Given the description of an element on the screen output the (x, y) to click on. 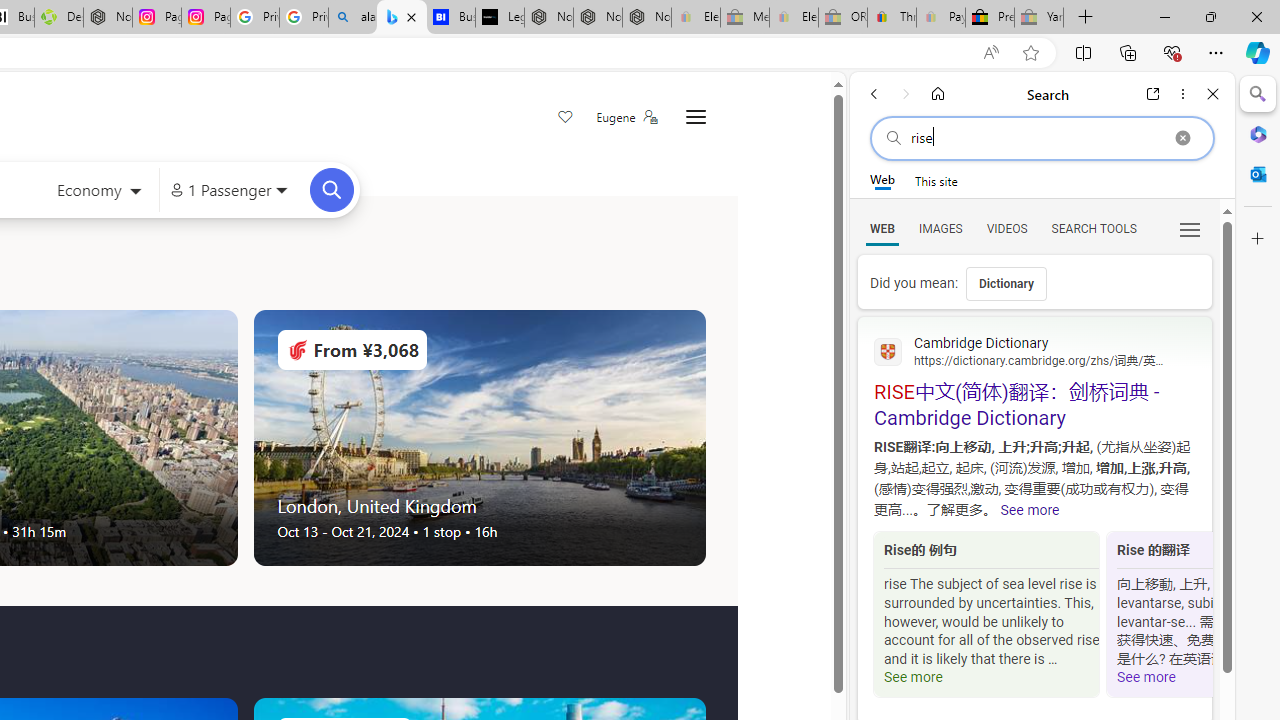
Microsoft Bing Travel - Flights (401, 17)
Dictionary (1006, 283)
Threats and offensive language policy | eBay (891, 17)
Press Room - eBay Inc. (989, 17)
